Given the description of an element on the screen output the (x, y) to click on. 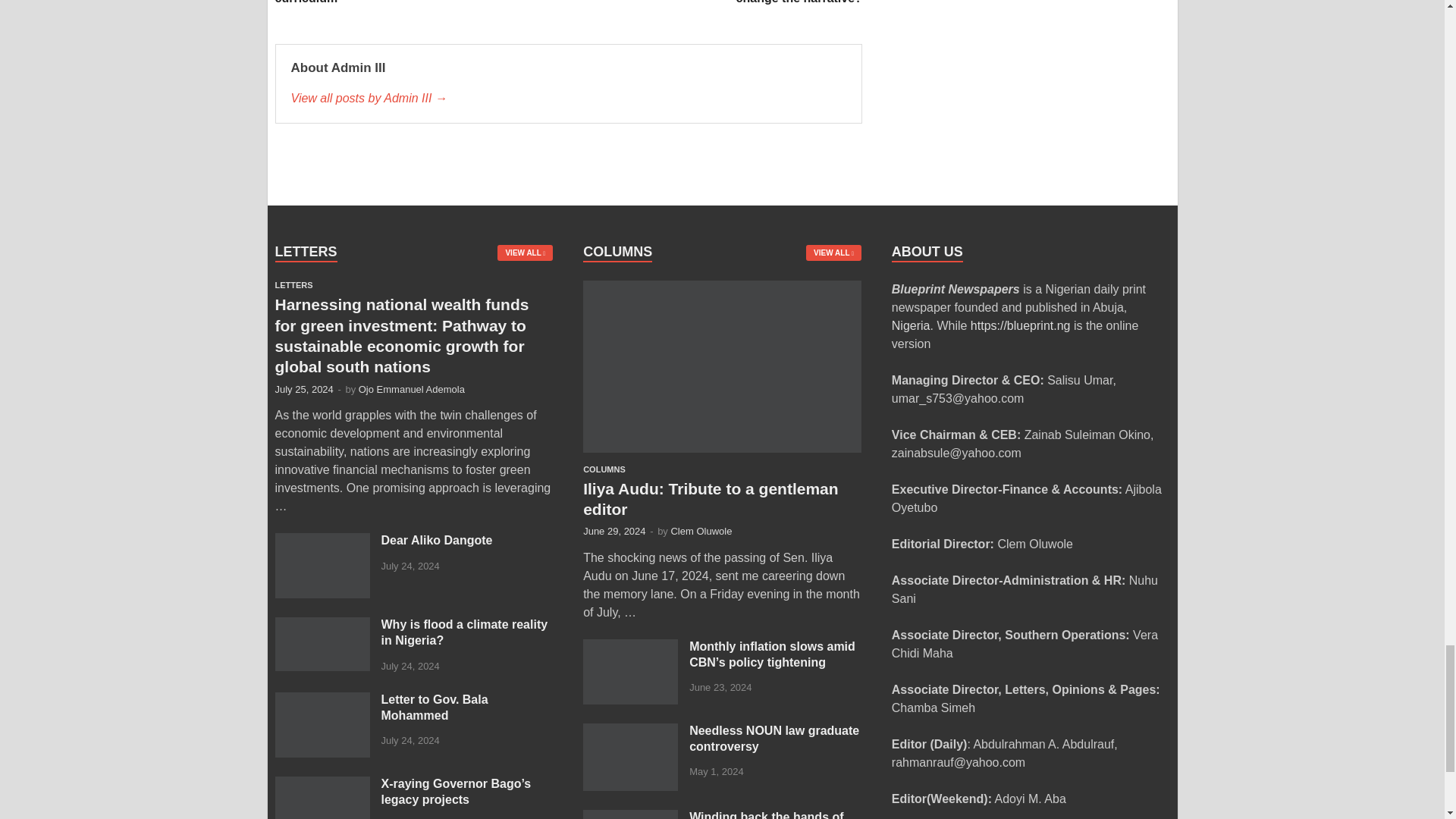
Why is flood a climate reality in Nigeria? (322, 625)
Admin III (568, 98)
Iliya Audu: Tribute to a gentleman editor (722, 288)
Dear Aliko Dangote (322, 541)
Needless NOUN law graduate controversy (630, 731)
